Given the description of an element on the screen output the (x, y) to click on. 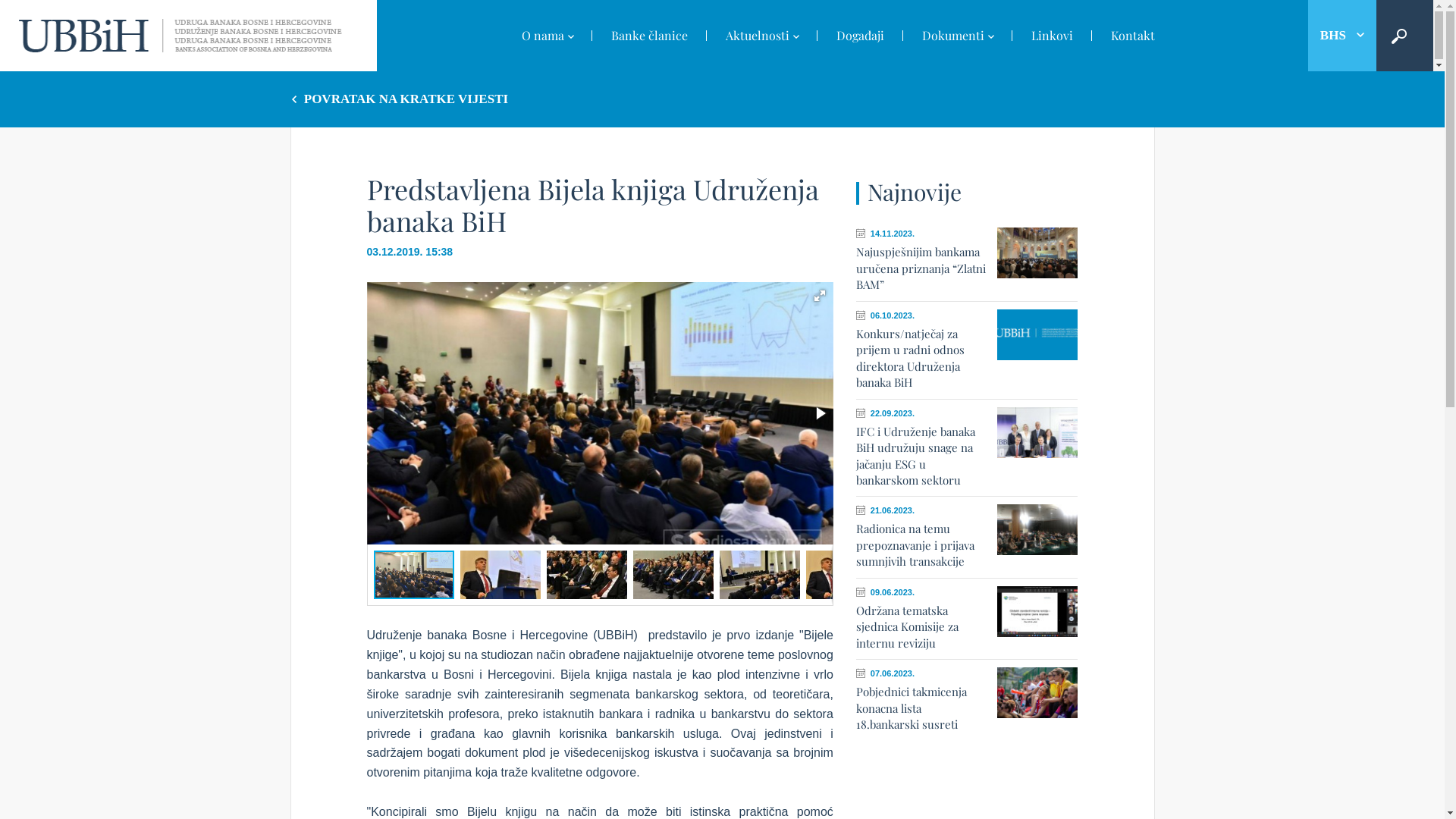
O nama Element type: text (546, 37)
POVRATAK NA KRATKE VIJESTI Element type: text (398, 98)
Kontakt Element type: text (1123, 35)
Dokumenti Element type: text (956, 37)
Pobjednici takmicenja konacna lista 18.bankarski susreti Element type: hover (1037, 692)
Pobjednici takmicenja konacna lista 18.bankarski susreti Element type: text (911, 707)
Aktuelnosti Element type: text (761, 37)
Linkovi Element type: text (1051, 35)
